Given the description of an element on the screen output the (x, y) to click on. 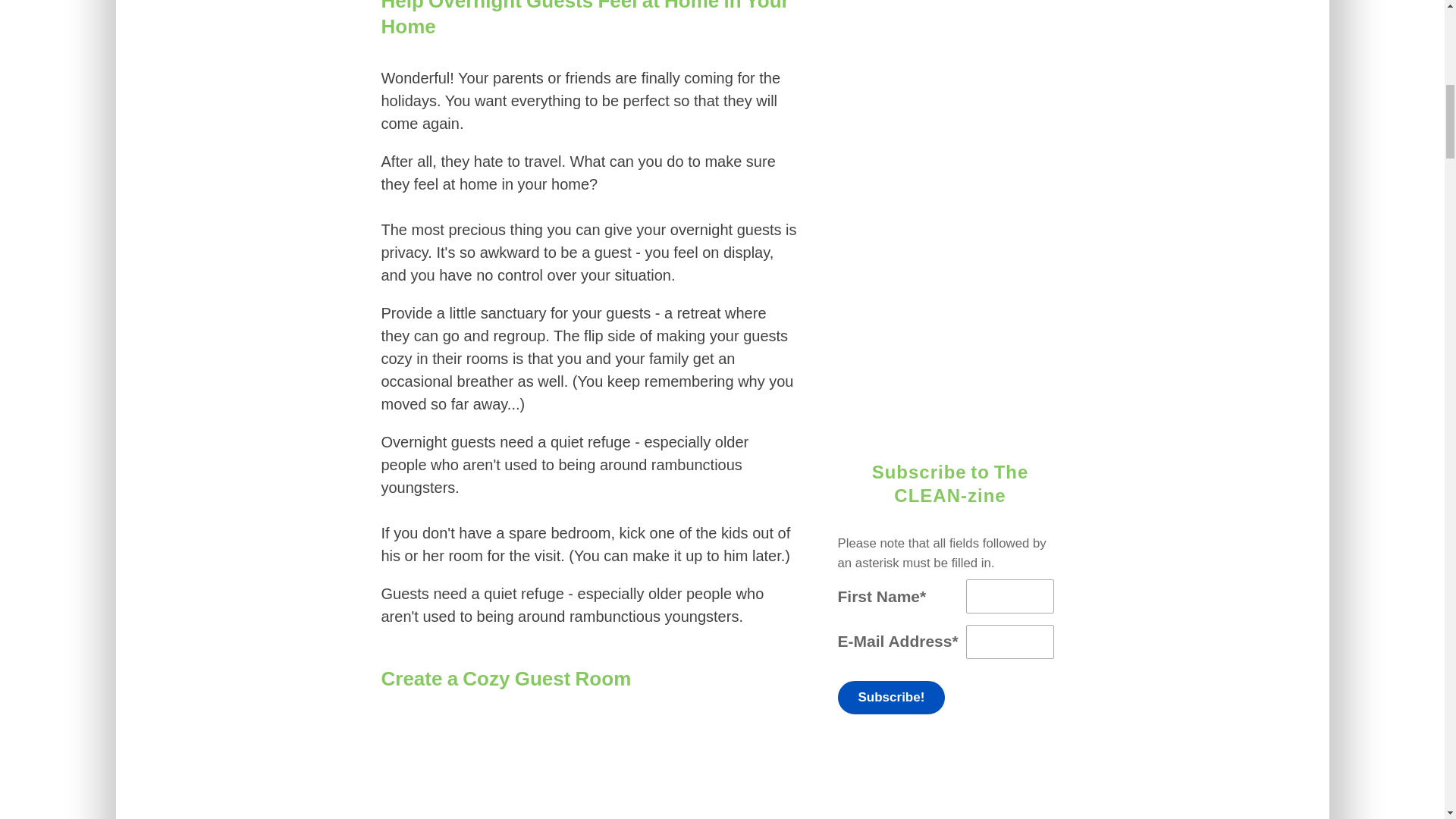
Bed with a hat. (589, 770)
Subscribe! (890, 697)
Advertisement (948, 204)
